Given the description of an element on the screen output the (x, y) to click on. 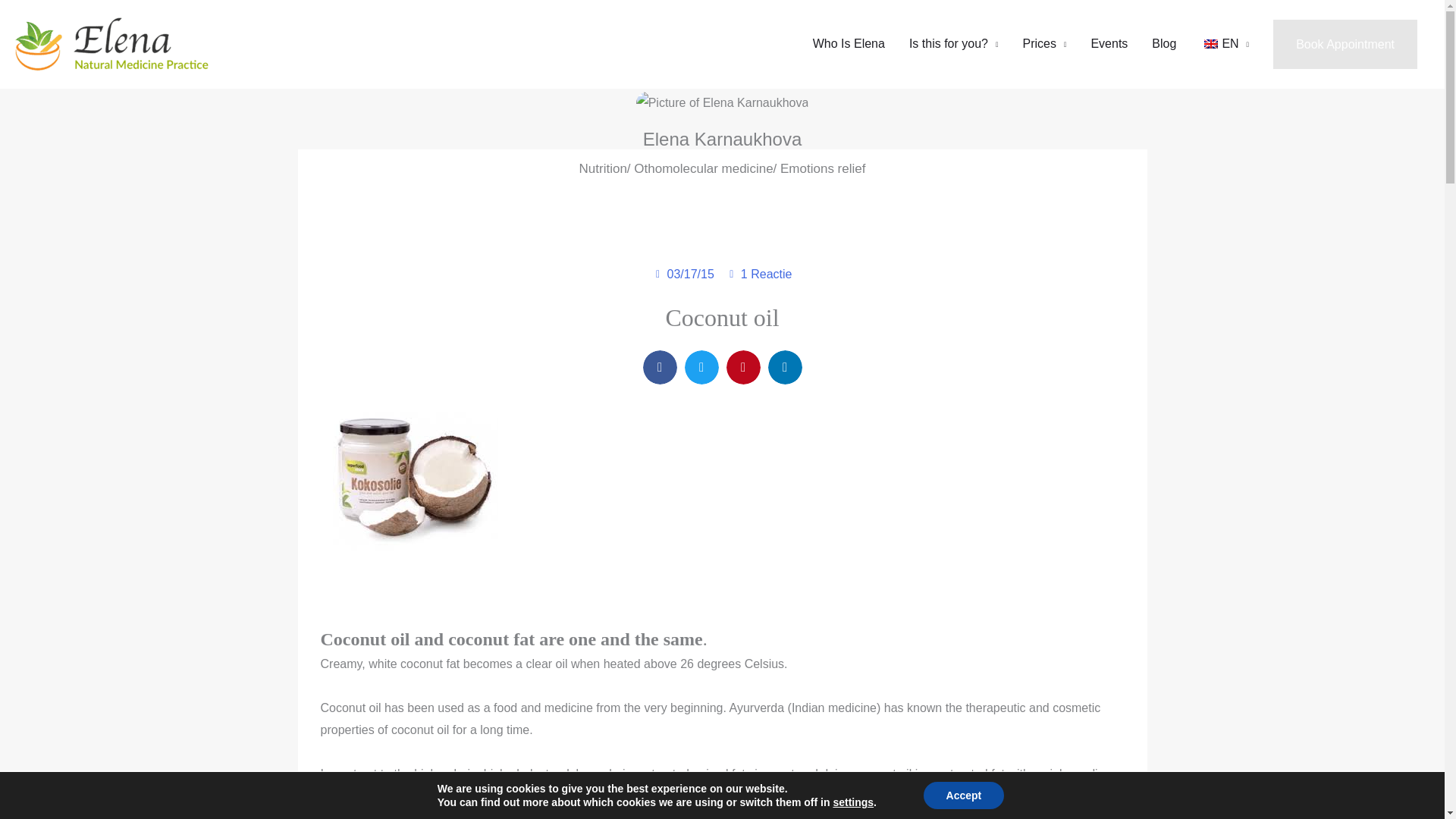
EN (1224, 44)
Who Is Elena (848, 44)
1 Reactie (759, 273)
Book Appointment (1344, 44)
Blog (1164, 44)
Is this for you? (953, 44)
English (1210, 43)
Events (1109, 44)
Prices (1044, 44)
